Given the description of an element on the screen output the (x, y) to click on. 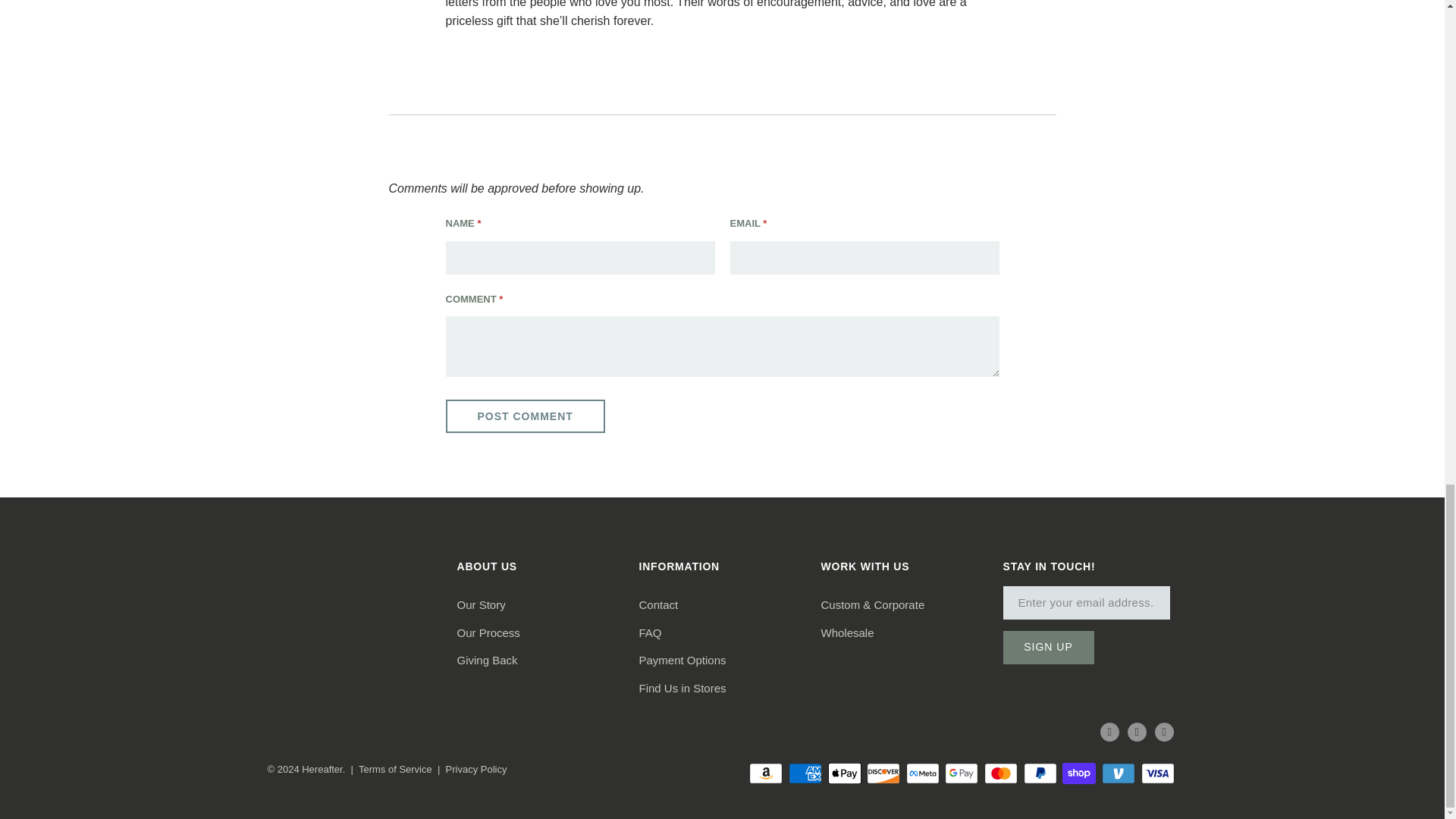
Sign Up (1048, 647)
Shop Pay (1080, 773)
Amazon (767, 773)
Mastercard (1002, 773)
PayPal (1041, 773)
Hereafter on Facebook (1109, 731)
Discover (884, 773)
Meta Pay (923, 773)
Hereafter on Pinterest (1136, 731)
Post comment (525, 416)
